Given the description of an element on the screen output the (x, y) to click on. 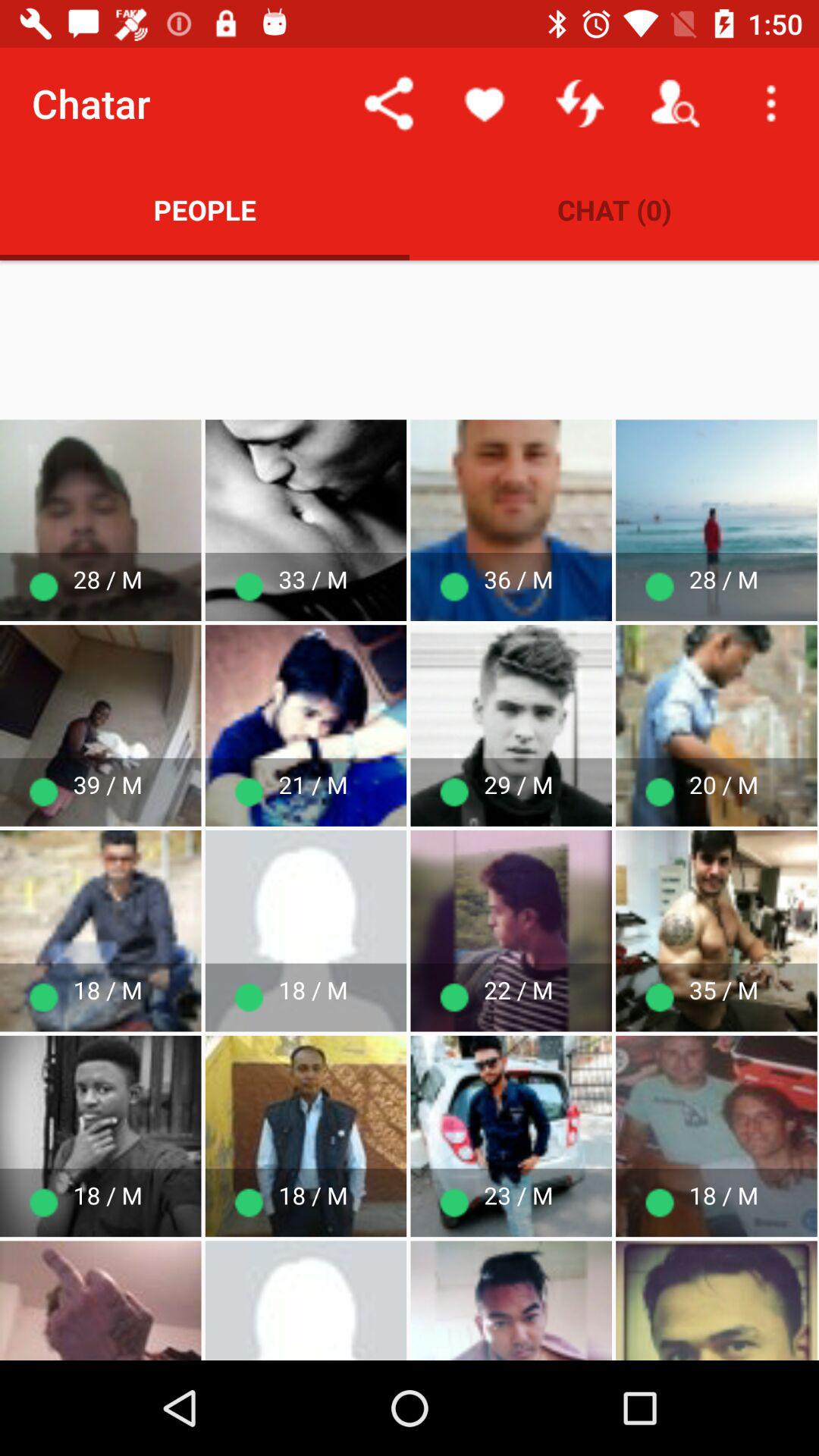
open icon to the right of people (614, 209)
